Given the description of an element on the screen output the (x, y) to click on. 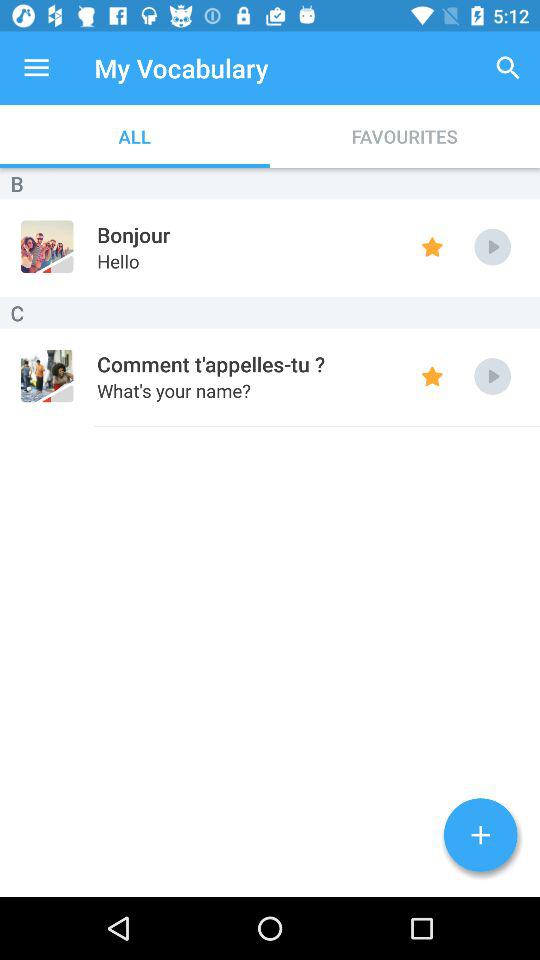
turn off the app to the right of my vocabulary item (508, 67)
